Given the description of an element on the screen output the (x, y) to click on. 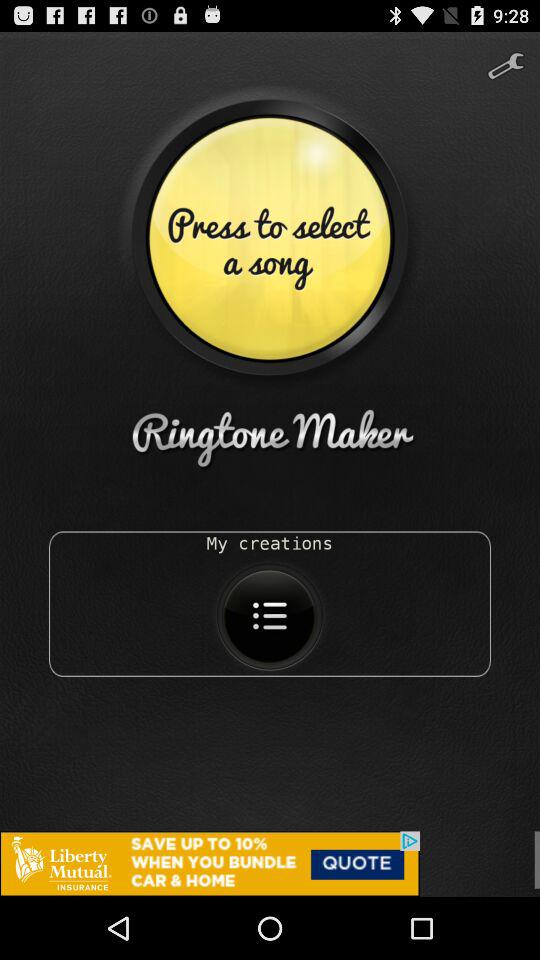
add option (270, 864)
